Given the description of an element on the screen output the (x, y) to click on. 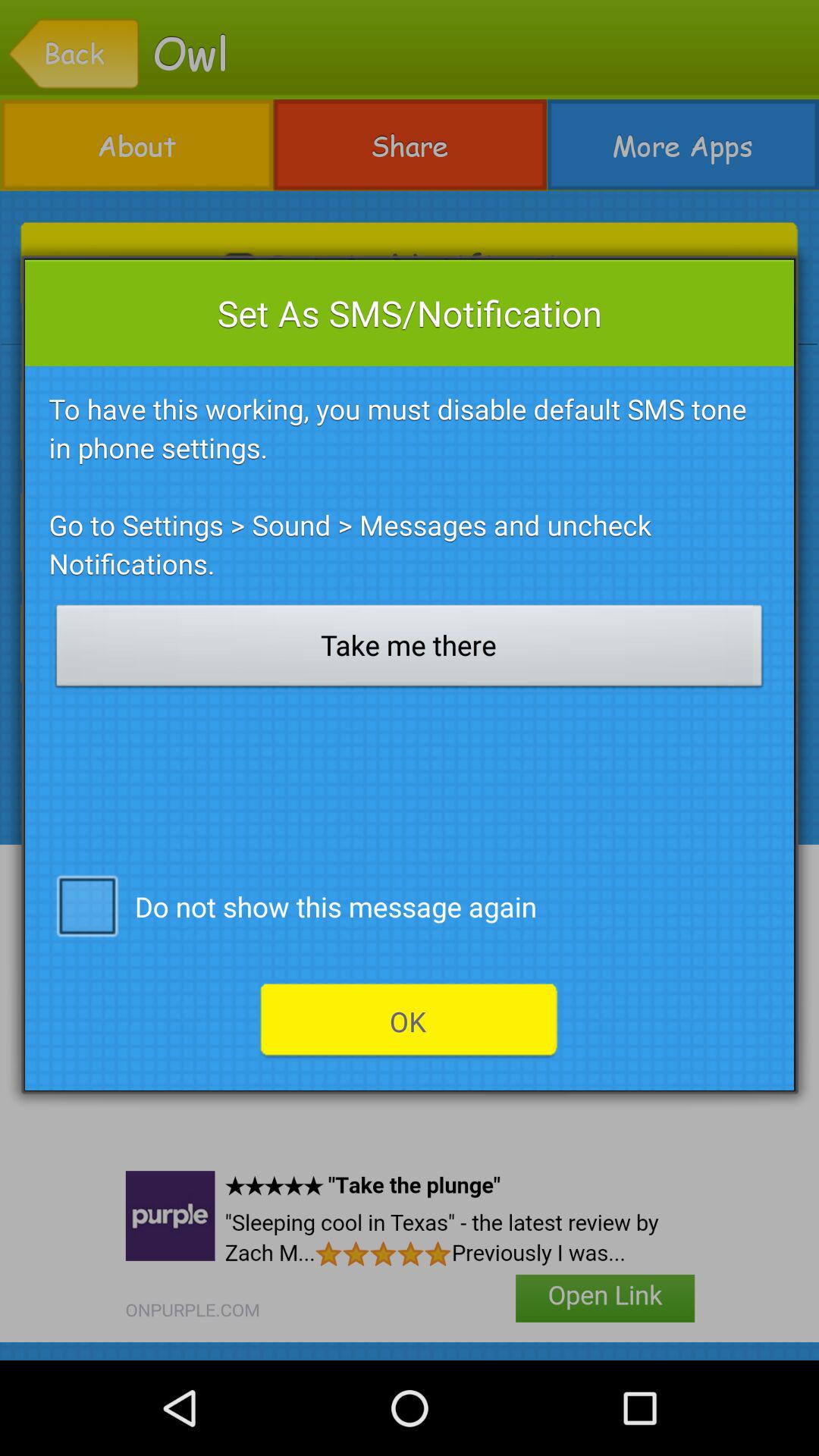
turn off icon below to have this (409, 649)
